Given the description of an element on the screen output the (x, y) to click on. 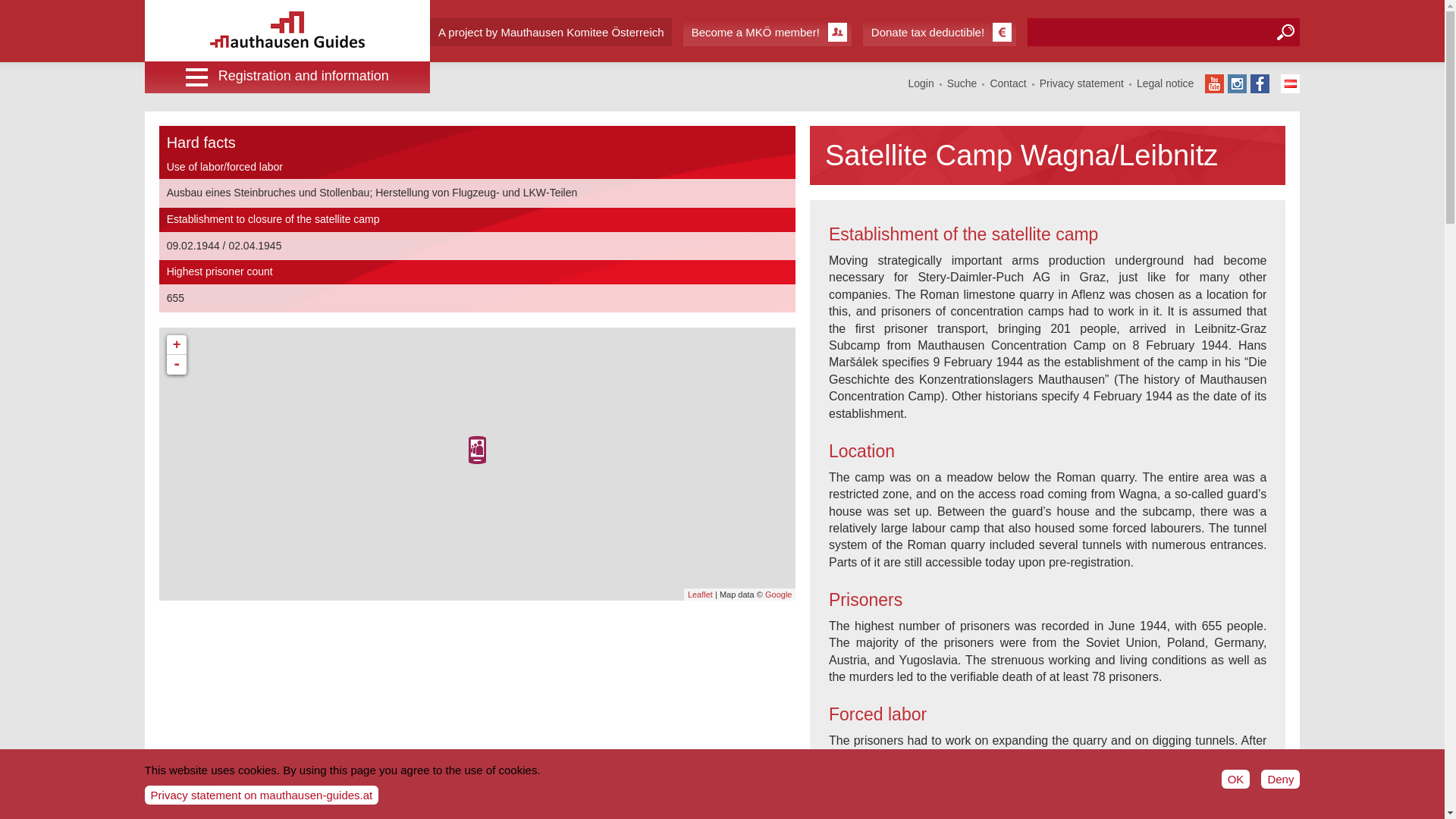
Donate tax deductible! (939, 31)
Search (1285, 31)
